Given the description of an element on the screen output the (x, y) to click on. 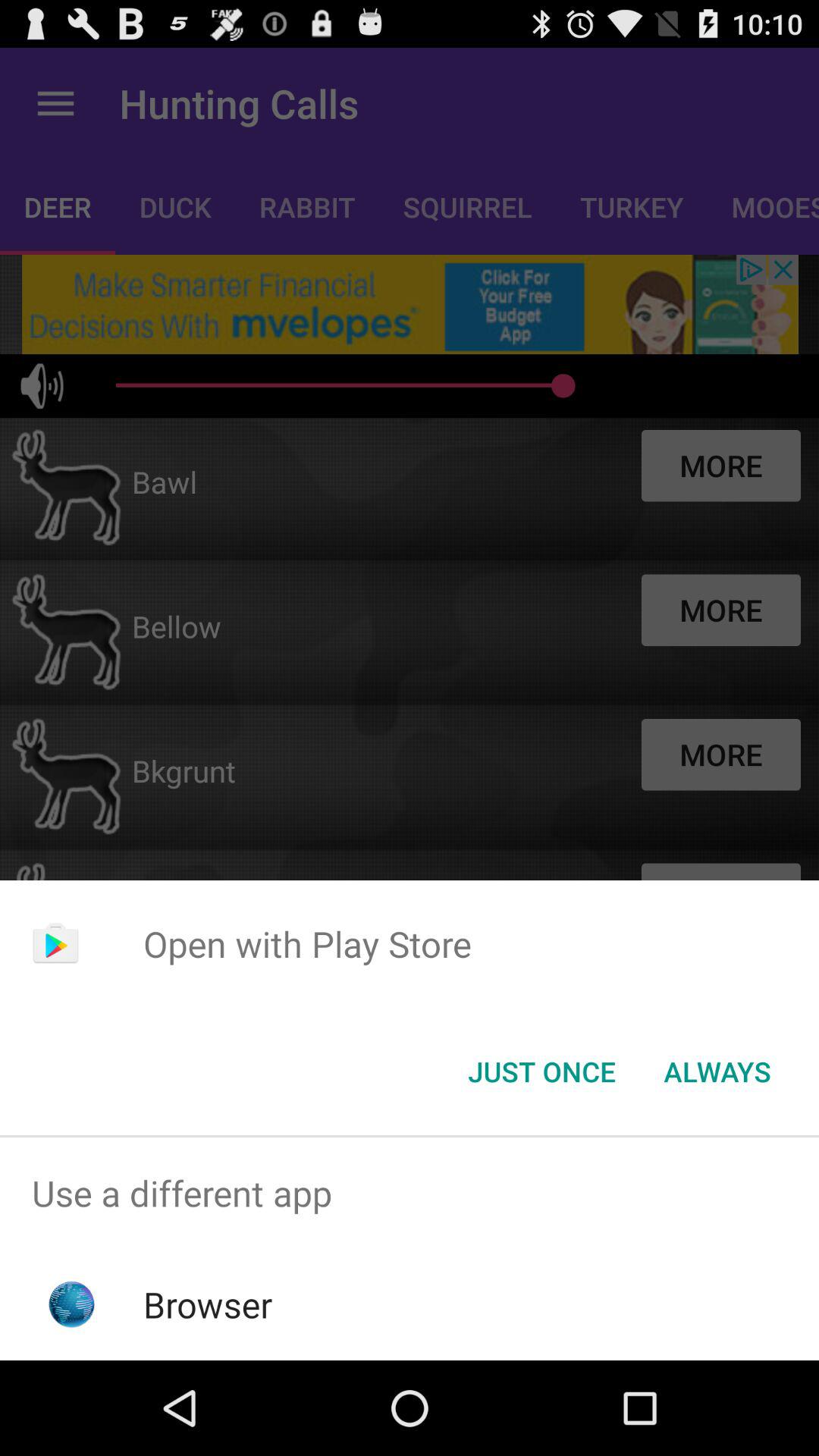
turn on app above browser item (409, 1192)
